Given the description of an element on the screen output the (x, y) to click on. 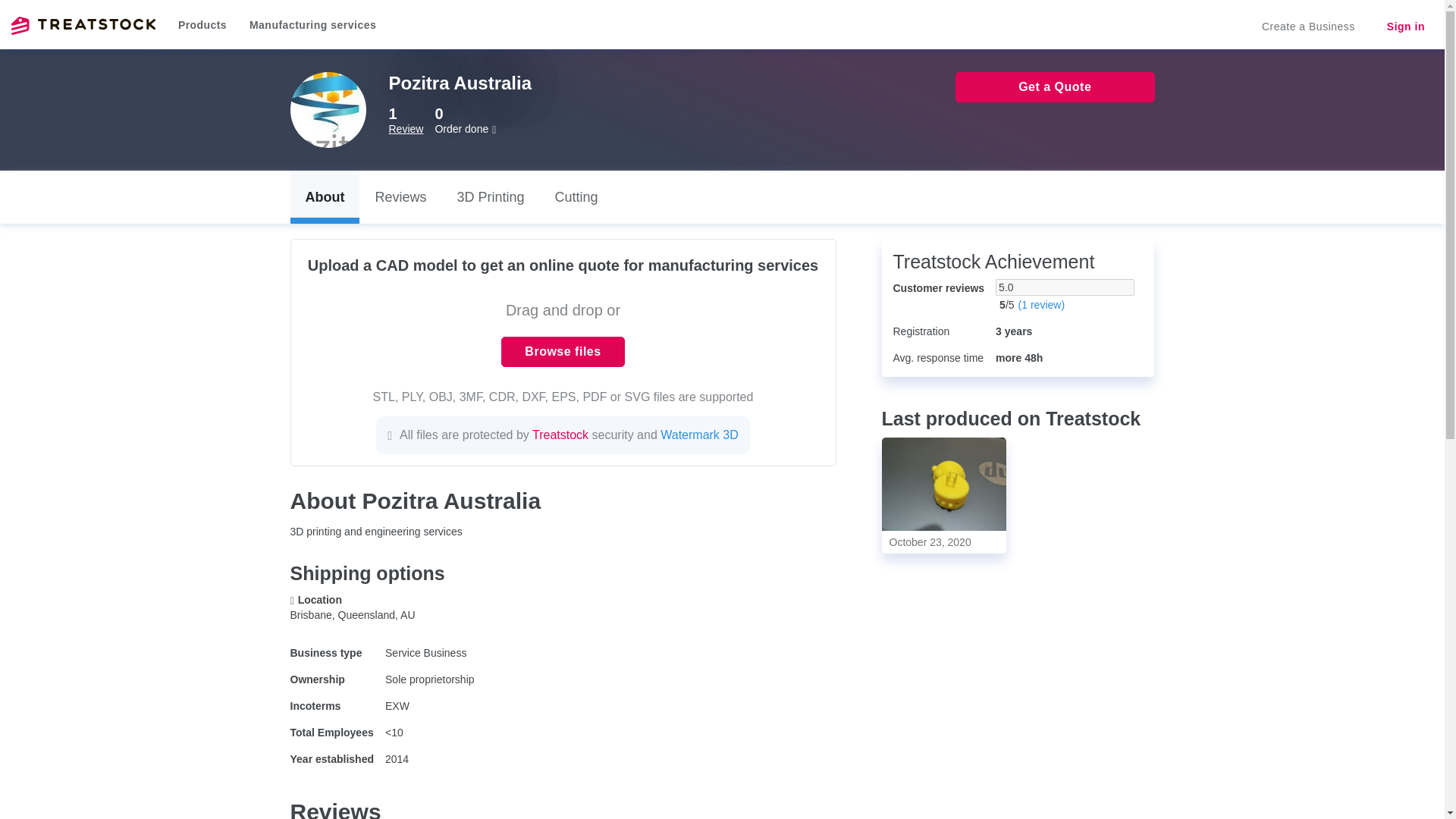
Treatstock 3D Printing Services (83, 25)
Treatstock (83, 25)
Manufacturing services (311, 24)
Create a Business (1307, 26)
Products (202, 24)
5.0 (1064, 287)
Sign in (1405, 26)
